Given the description of an element on the screen output the (x, y) to click on. 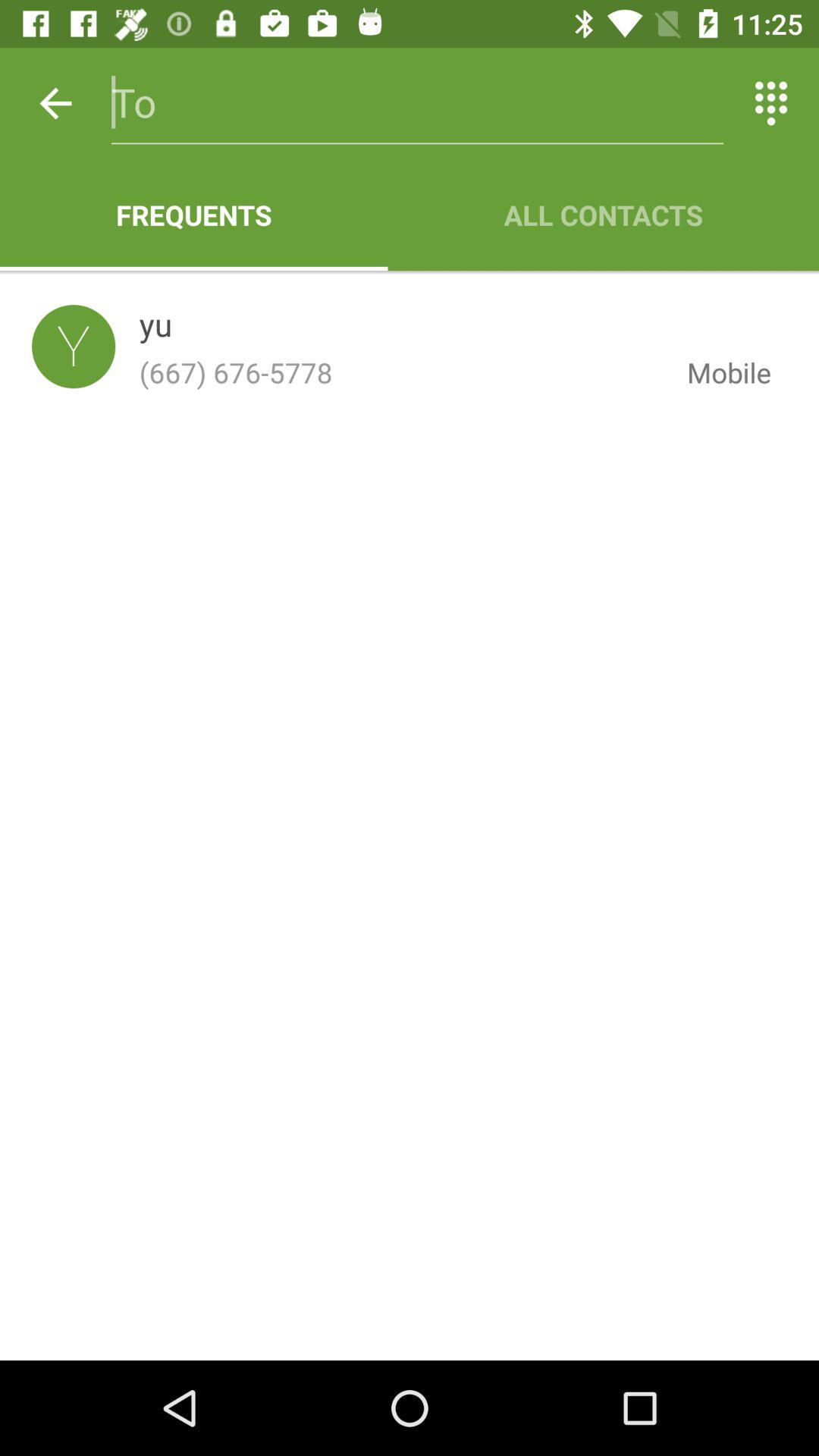
turn off the mobile item (717, 372)
